Given the description of an element on the screen output the (x, y) to click on. 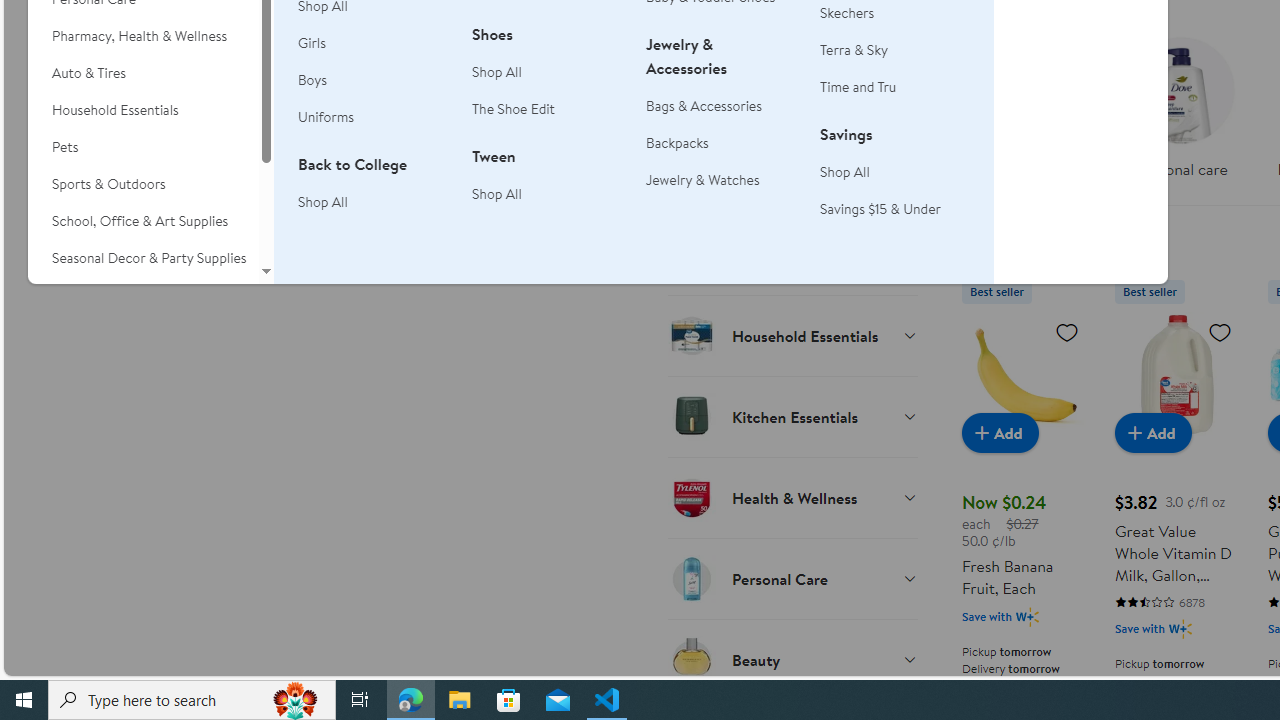
Sign in to add to Favorites list, Fresh Banana Fruit, Each (1066, 331)
Time and Tru (895, 87)
Boys (373, 79)
Auto & Tires (143, 73)
Jewelry & Watches (721, 179)
Back to CollegeShop All (373, 193)
Health & Wellness (792, 497)
Personal Care (792, 578)
Uniforms (326, 116)
SavingsShop AllSavings $15 & Under (895, 182)
Auto & Tires (143, 73)
Backpacks (721, 143)
